Given the description of an element on the screen output the (x, y) to click on. 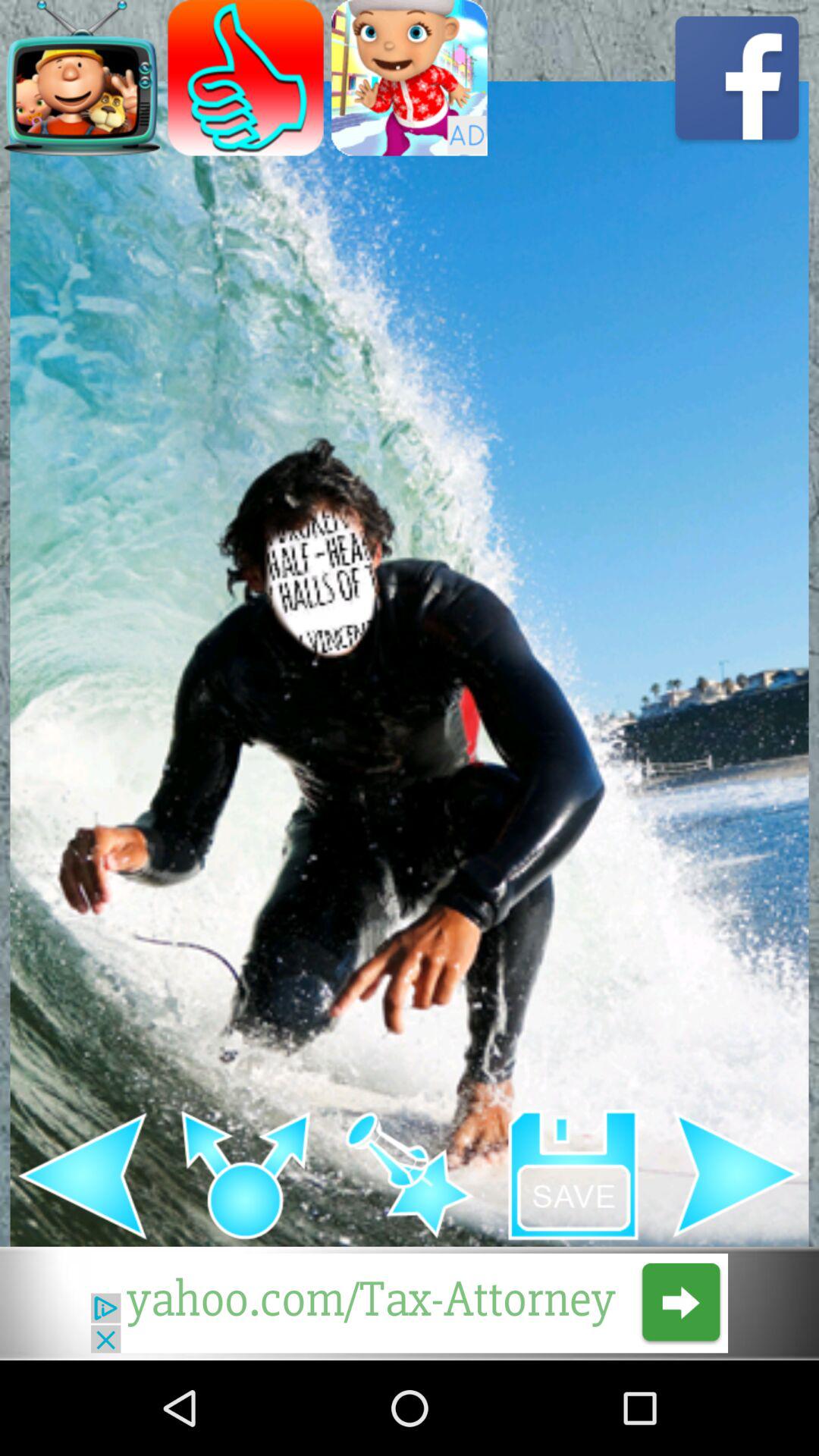
enter the face book (737, 77)
